Given the description of an element on the screen output the (x, y) to click on. 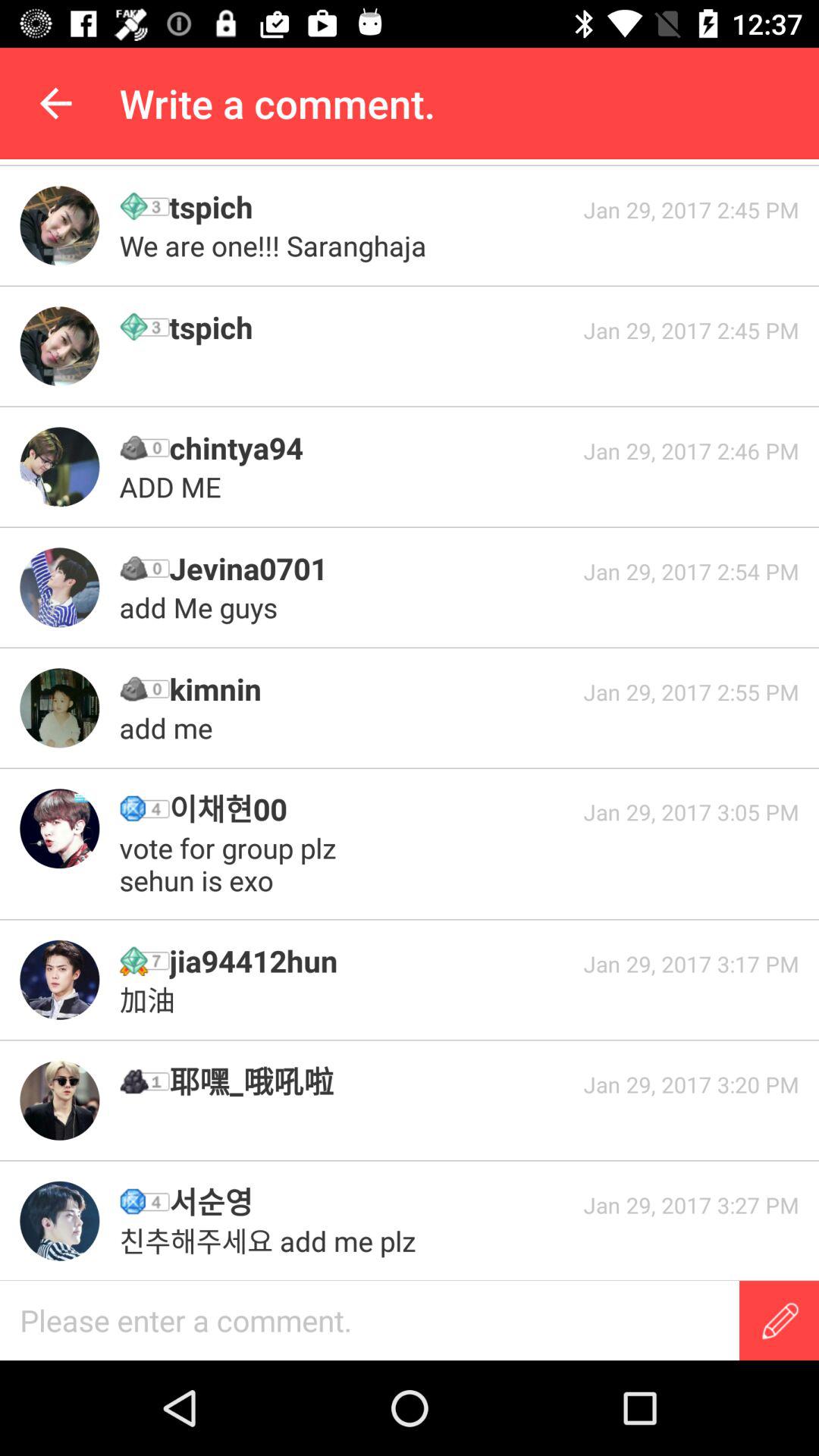
scroll until vote for group icon (231, 864)
